Given the description of an element on the screen output the (x, y) to click on. 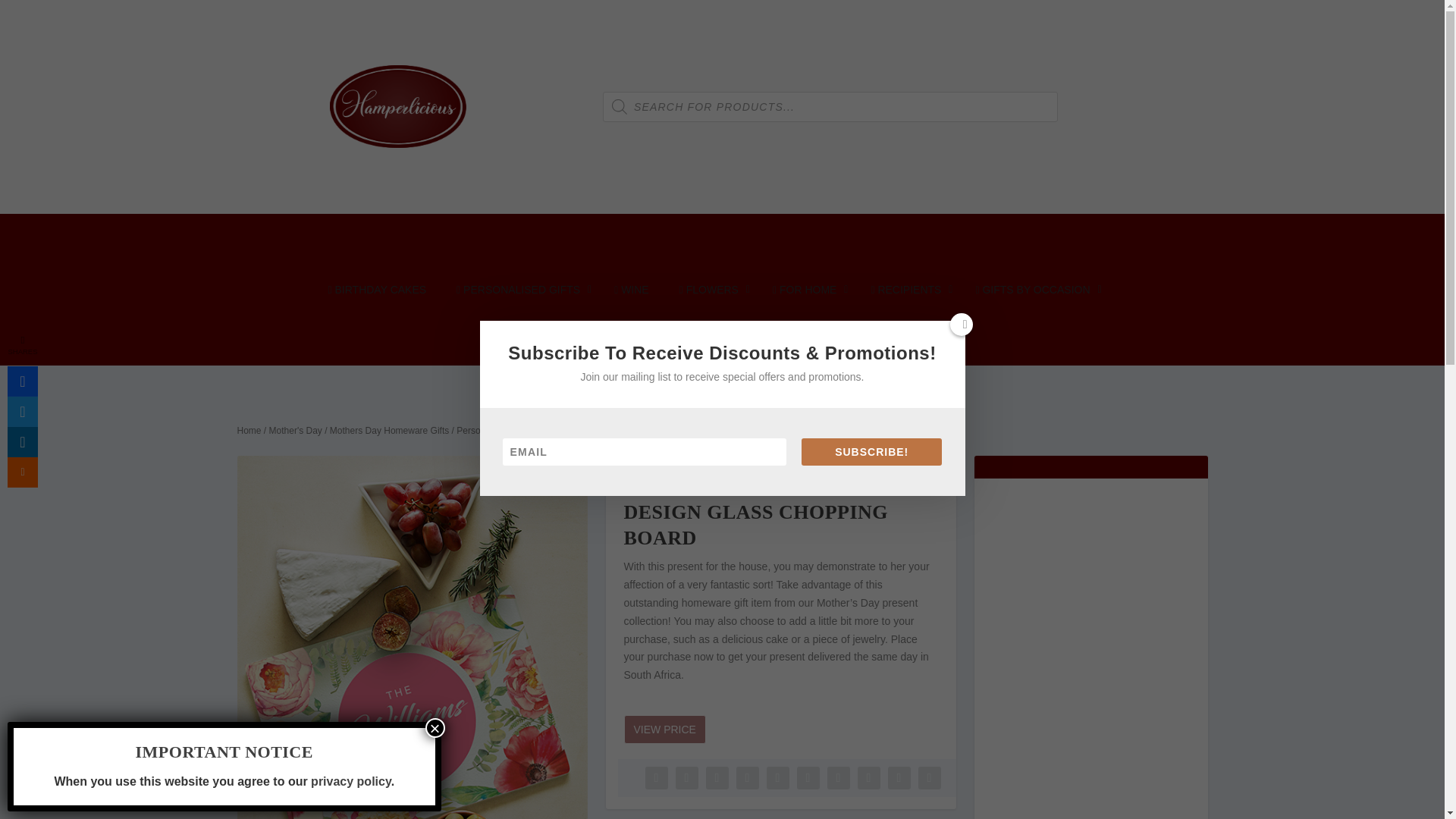
Personalised Floral Design Glass Chopping Board (410, 637)
